Given the description of an element on the screen output the (x, y) to click on. 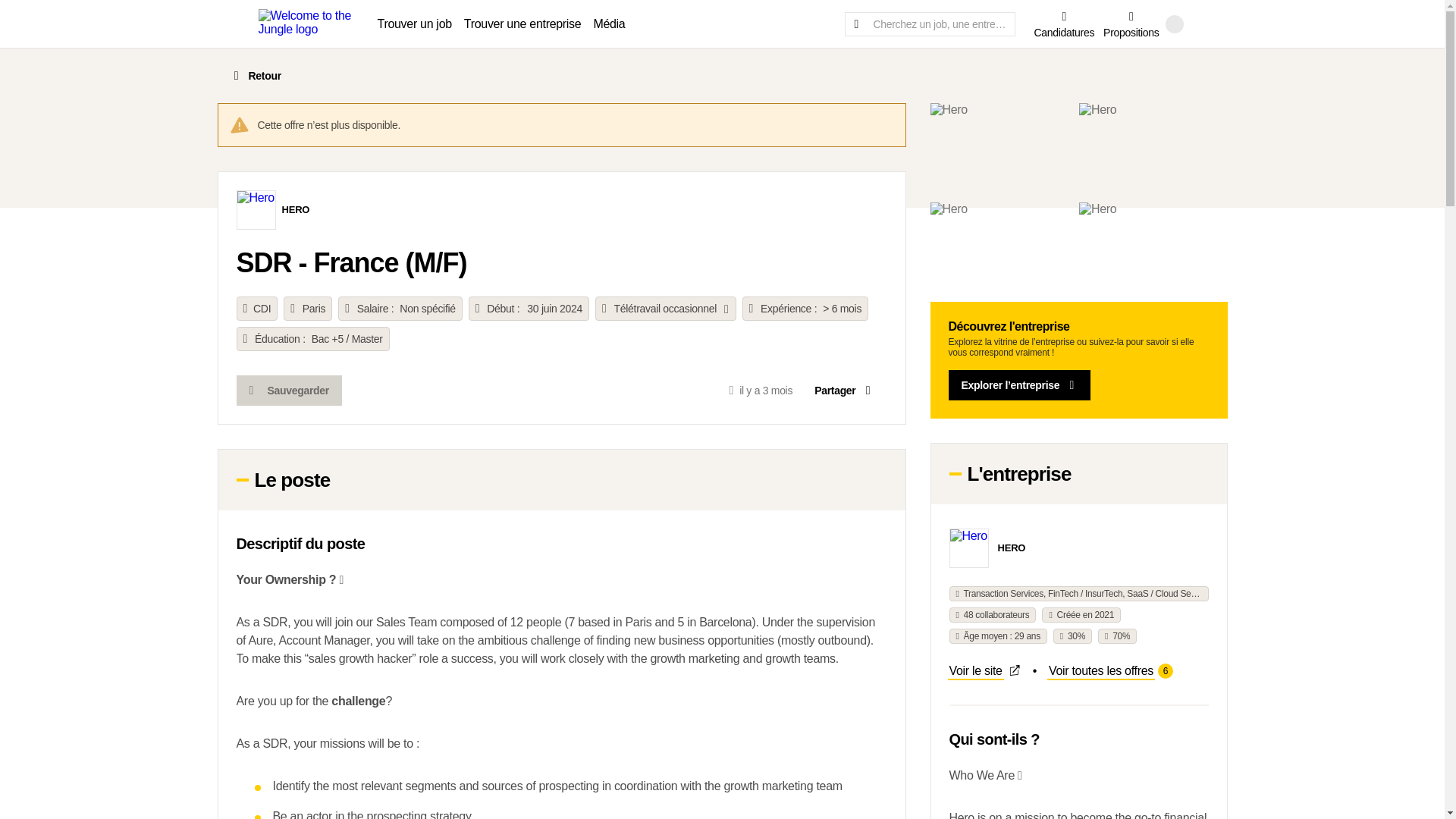
Propositions (1130, 23)
Voir le site (1110, 670)
HERO (984, 670)
Sauvegarder (296, 210)
Partager (288, 390)
Candidatures (844, 390)
HERO (1063, 23)
Retour (1011, 548)
Welcome to the Jungle (255, 75)
